Given the description of an element on the screen output the (x, y) to click on. 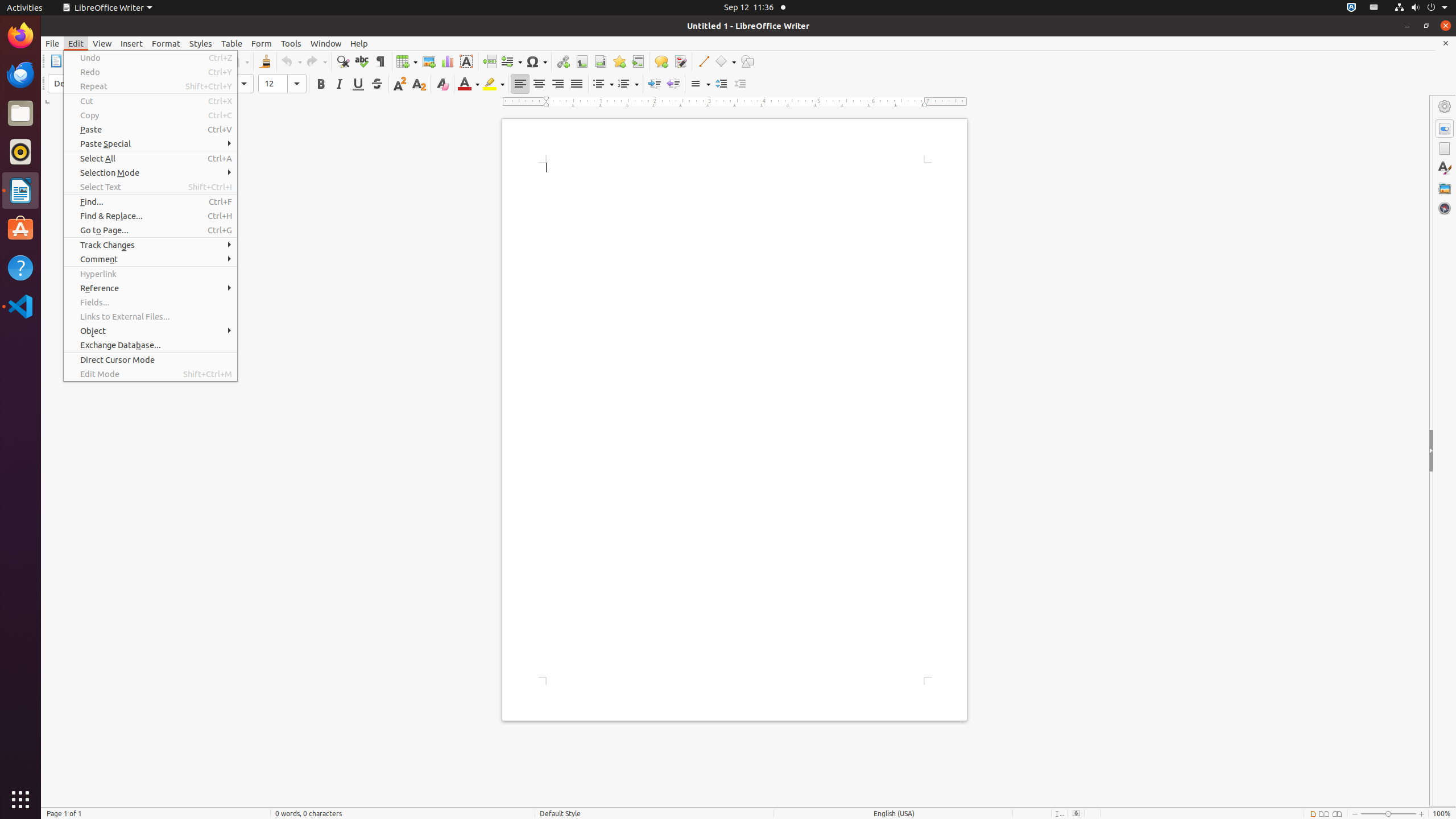
Ubuntu Software Element type: push-button (20, 229)
Basic Shapes Element type: push-button (724, 61)
Hyperlink Element type: menu-item (150, 273)
Left Element type: toggle-button (519, 83)
Bullets Element type: push-button (602, 83)
